Given the description of an element on the screen output the (x, y) to click on. 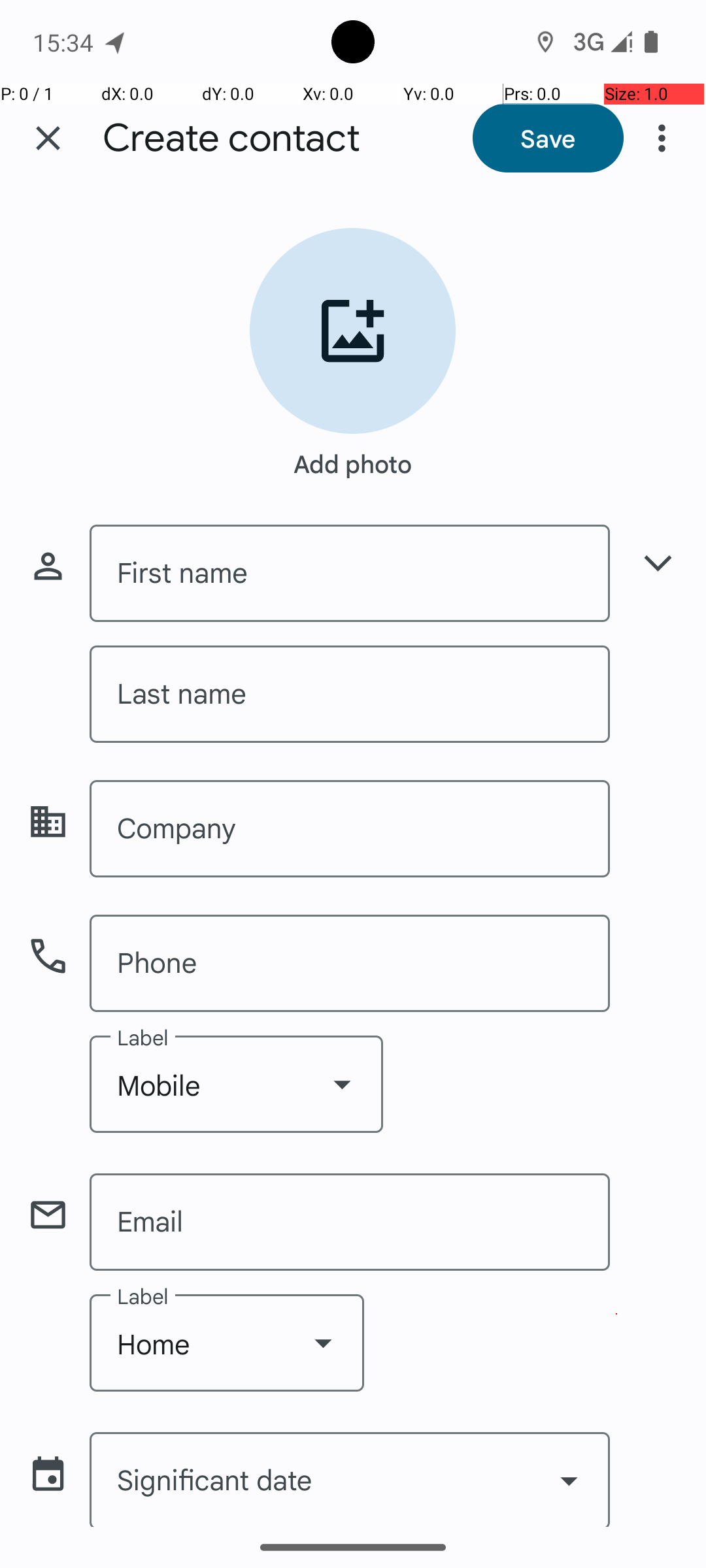
Save Element type: android.widget.Button (547, 137)
First name Element type: android.widget.EditText (349, 572)
Last name Element type: android.widget.EditText (349, 693)
Mobile Element type: android.widget.Spinner (236, 1083)
Show dropdown menu Element type: android.widget.ImageButton (341, 1083)
Email Element type: android.widget.EditText (349, 1221)
Significant date Element type: android.widget.EditText (349, 1479)
Show date picker Element type: android.widget.ImageButton (568, 1480)
Add contact photo Element type: android.widget.ImageView (352, 330)
Add photo Element type: android.widget.TextView (352, 456)
Show more name fields Element type: android.widget.ImageView (657, 562)
